Given the description of an element on the screen output the (x, y) to click on. 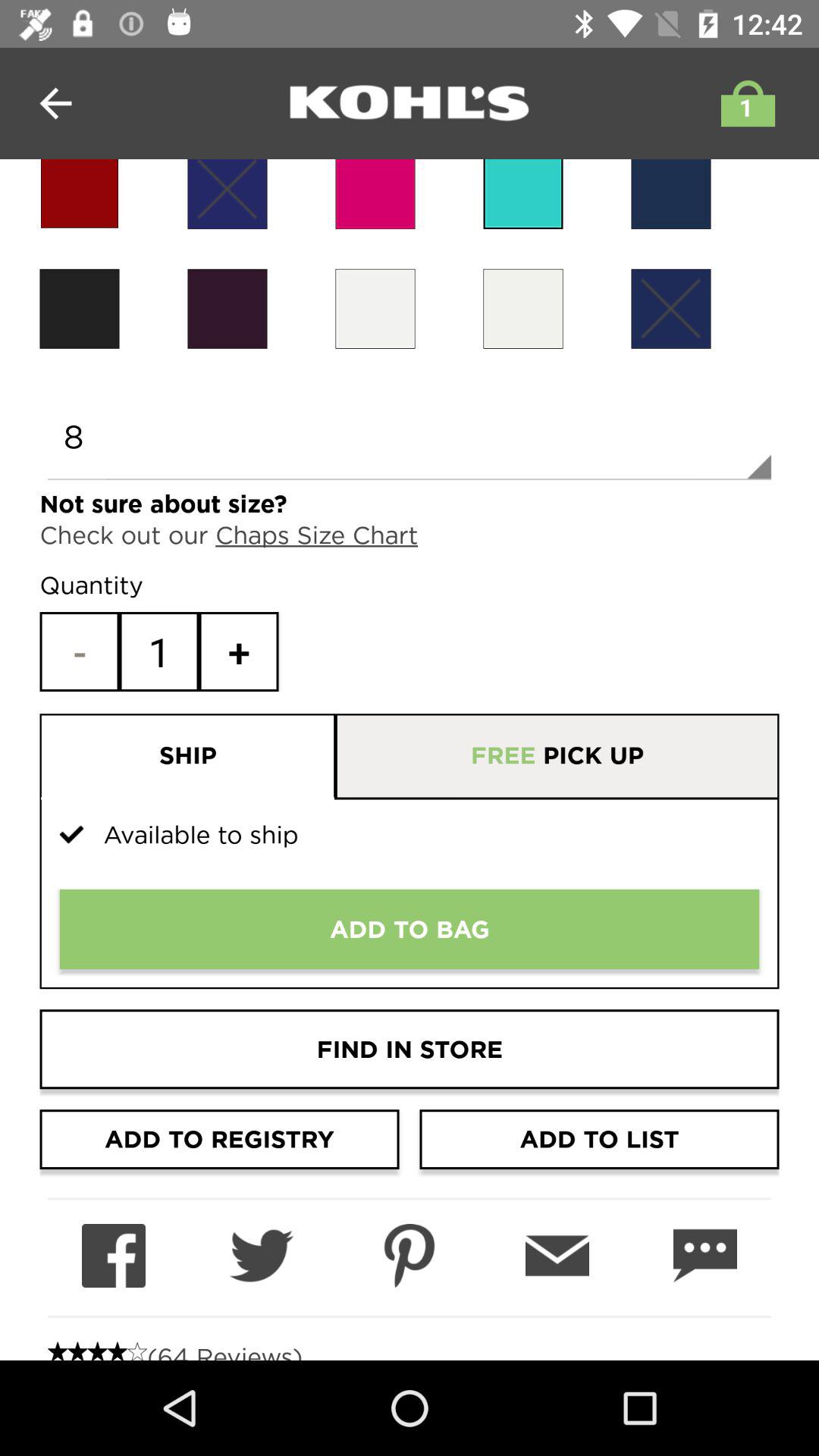
go to pinterest app (409, 1255)
